Given the description of an element on the screen output the (x, y) to click on. 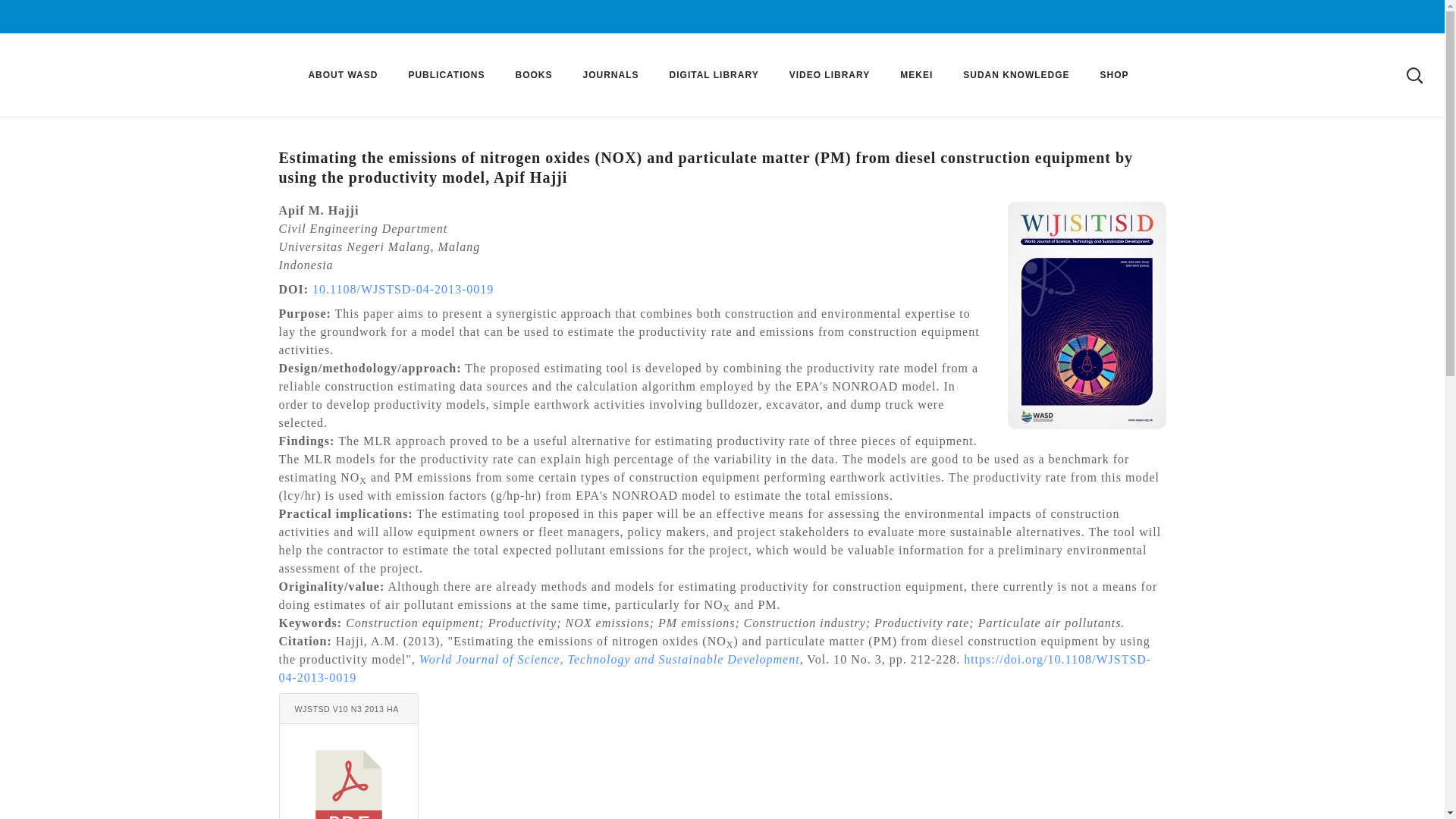
SUDAN KNOWLEDGE (1015, 75)
DIGITAL LIBRARY (713, 75)
Search (1374, 37)
WJSTSD V10 N3 2013 Hajji.pdf (348, 708)
PUBLICATIONS (446, 75)
Search (1374, 155)
VIDEO LIBRARY (829, 75)
JOURNALS (610, 75)
ABOUT WASD (342, 75)
